Given the description of an element on the screen output the (x, y) to click on. 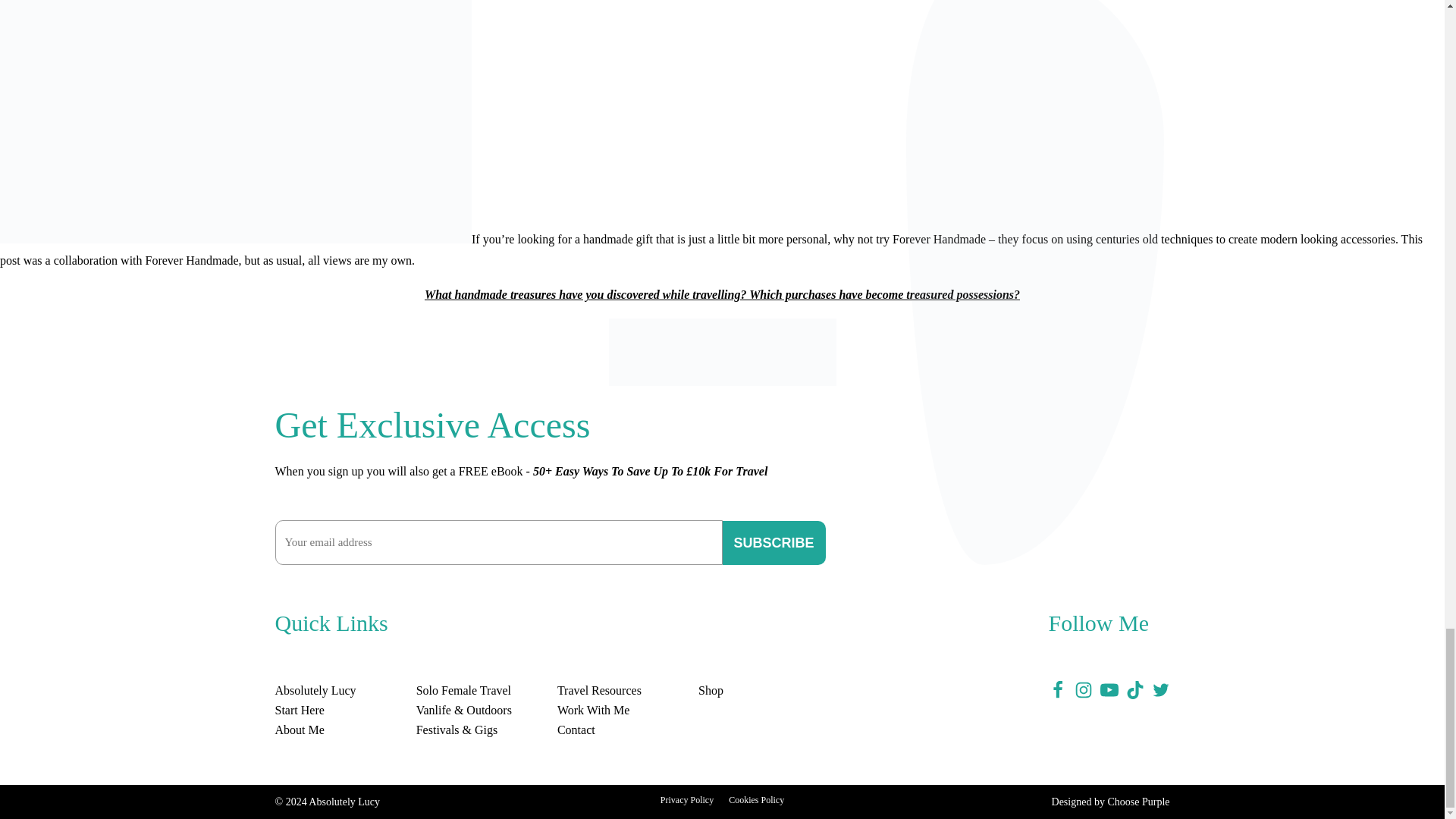
Subscribe (773, 542)
